Given the description of an element on the screen output the (x, y) to click on. 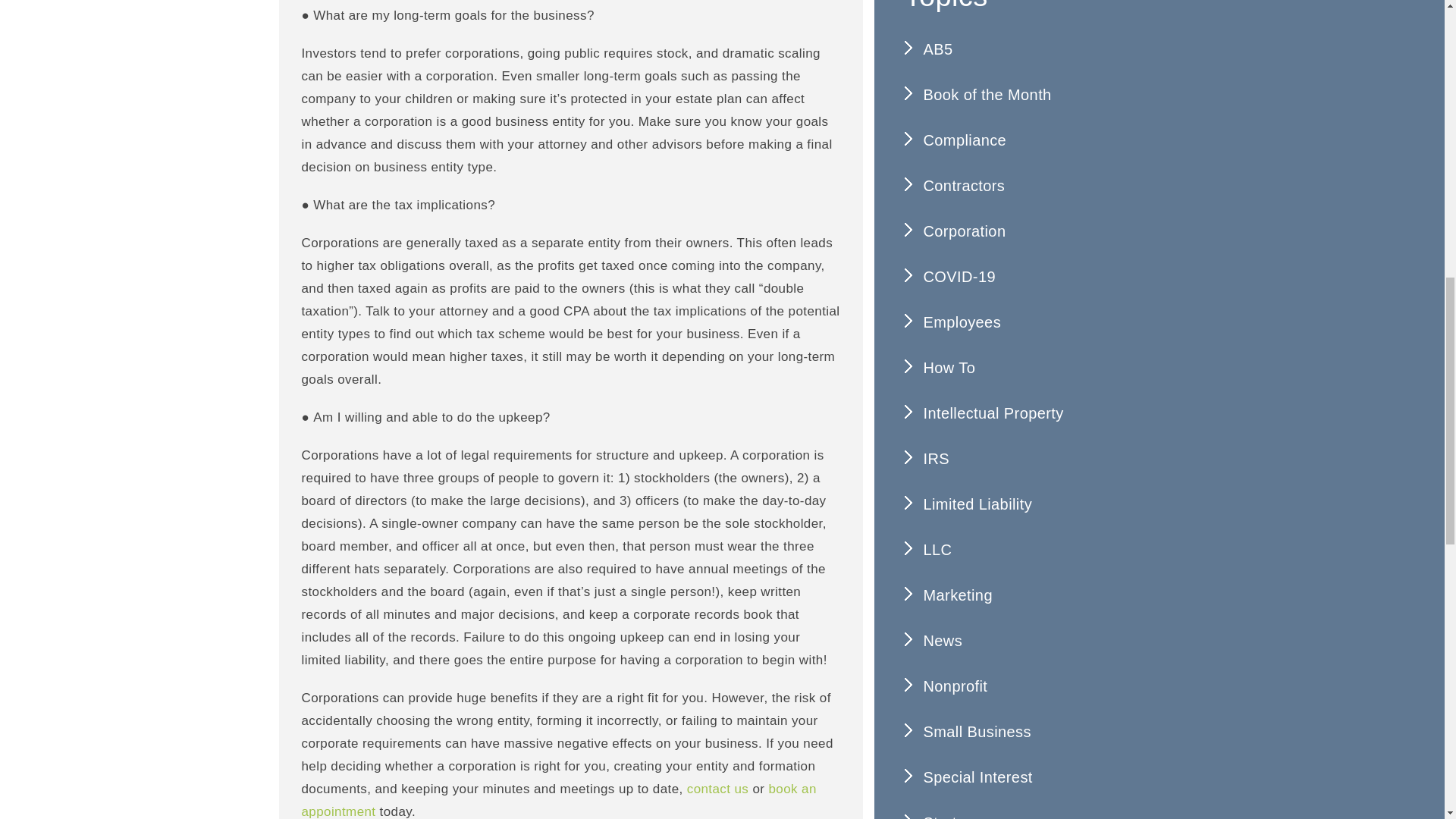
Book of the Month Tag (1025, 94)
AB5 Tag (1025, 48)
Employees (1025, 322)
Special Interest (1025, 776)
Compliance (1025, 139)
Corporation Tag (1025, 231)
Book of the Month (1025, 94)
COVID-19 (1025, 276)
AB5 (1025, 48)
Contractors Tag (1025, 185)
